Given the description of an element on the screen output the (x, y) to click on. 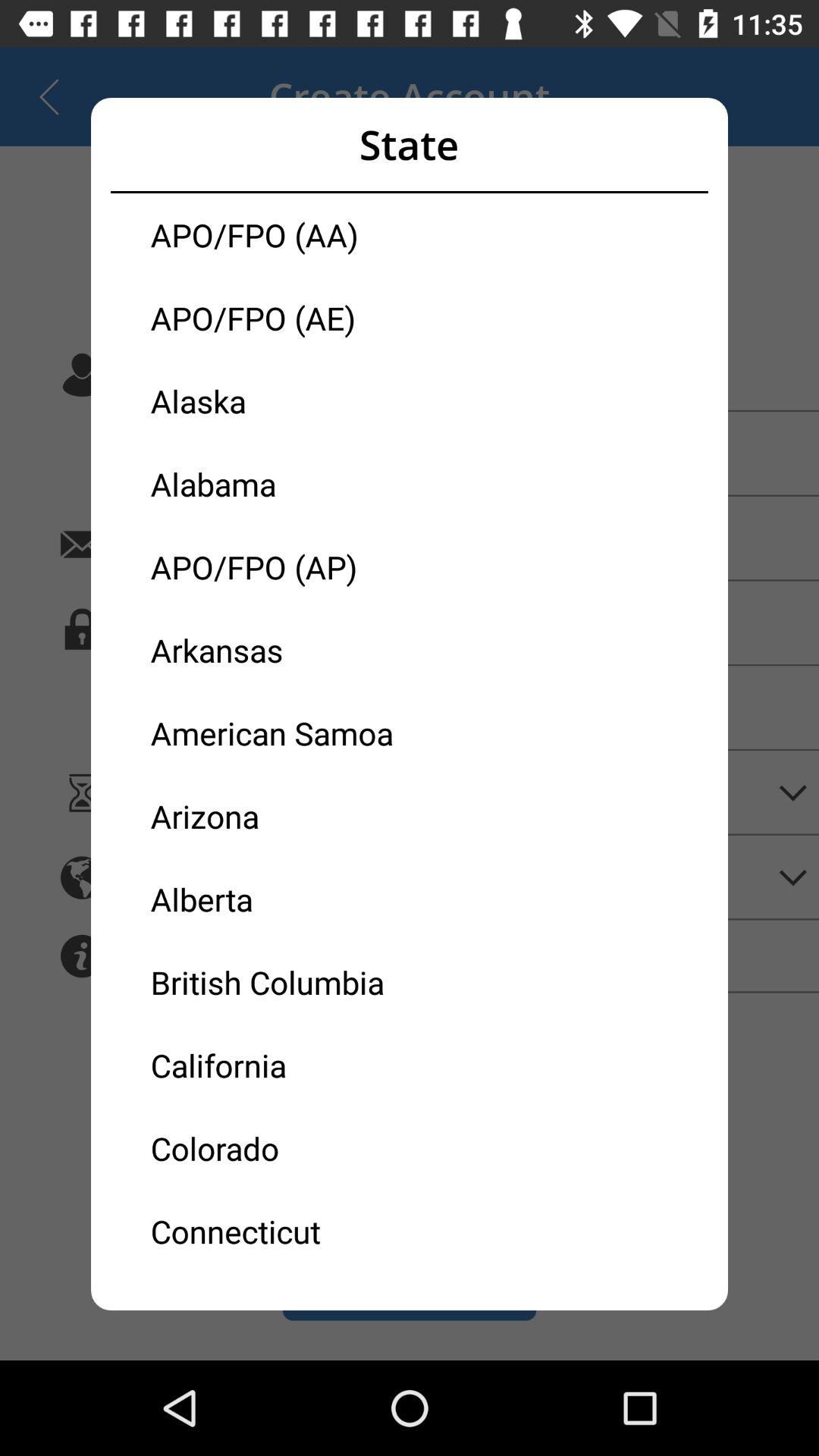
launch alberta (279, 898)
